Given the description of an element on the screen output the (x, y) to click on. 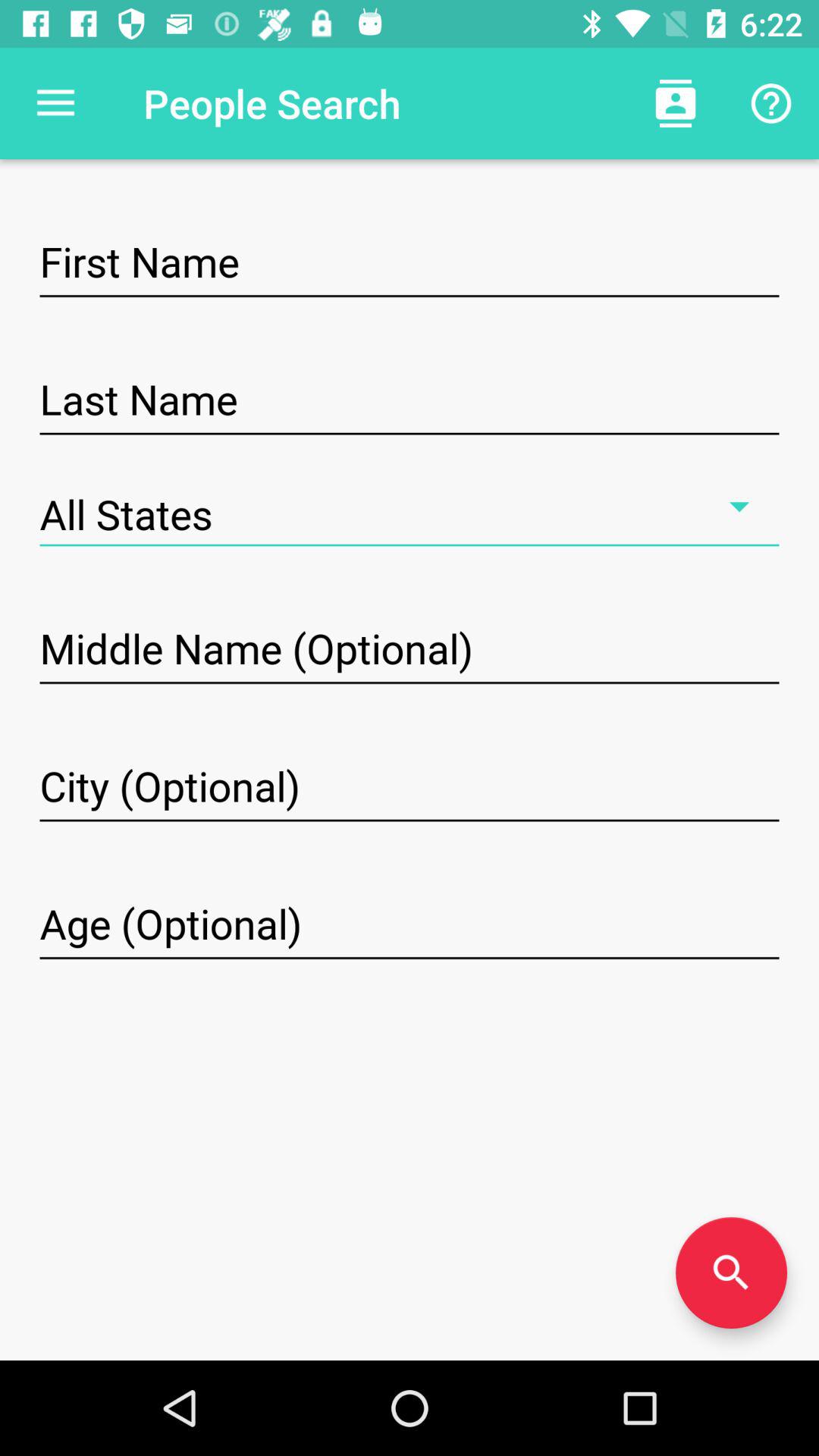
launch icon to the right of the people search icon (675, 103)
